Given the description of an element on the screen output the (x, y) to click on. 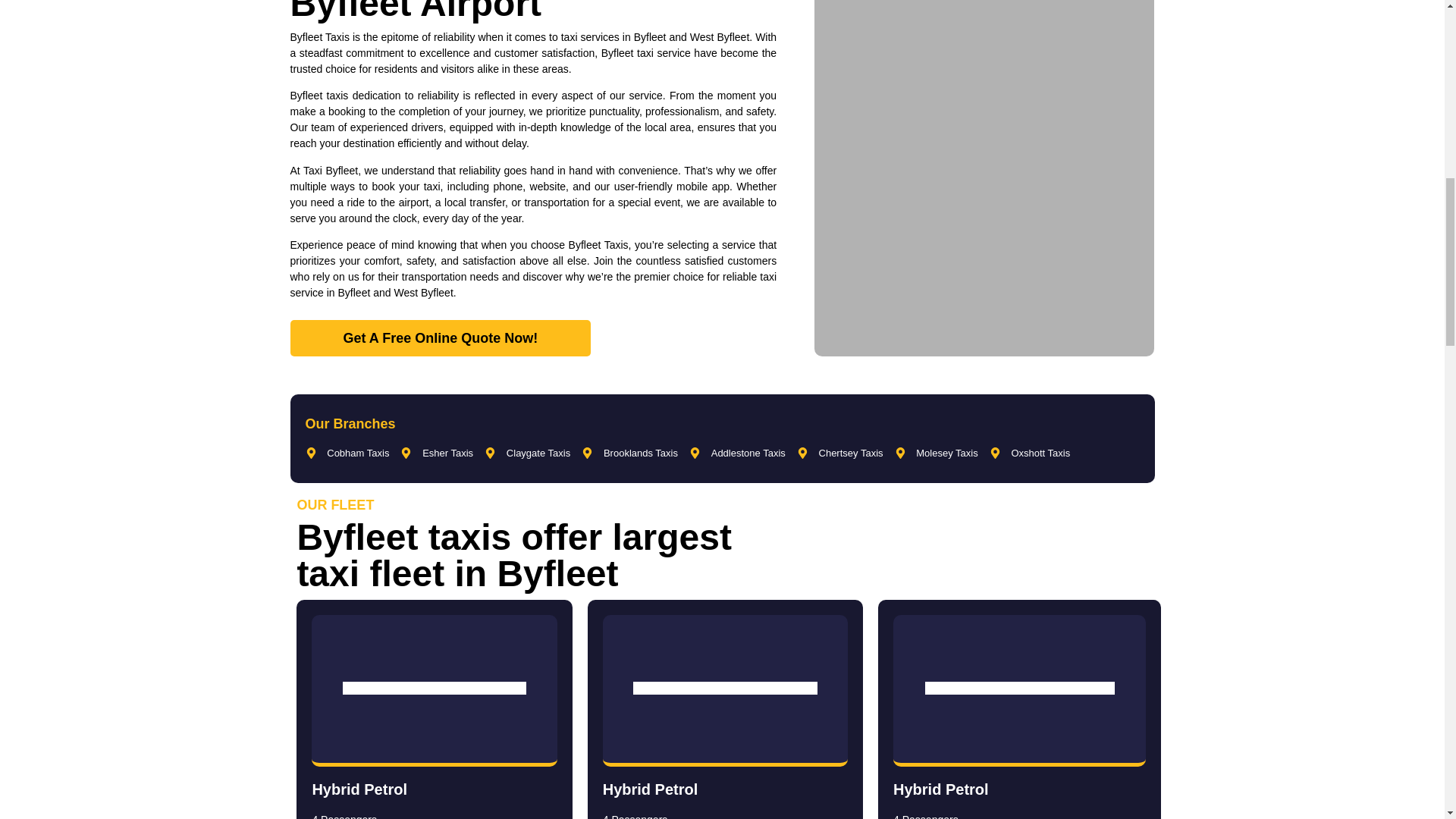
Get A Free Online Quote Now! (440, 338)
